Given the description of an element on the screen output the (x, y) to click on. 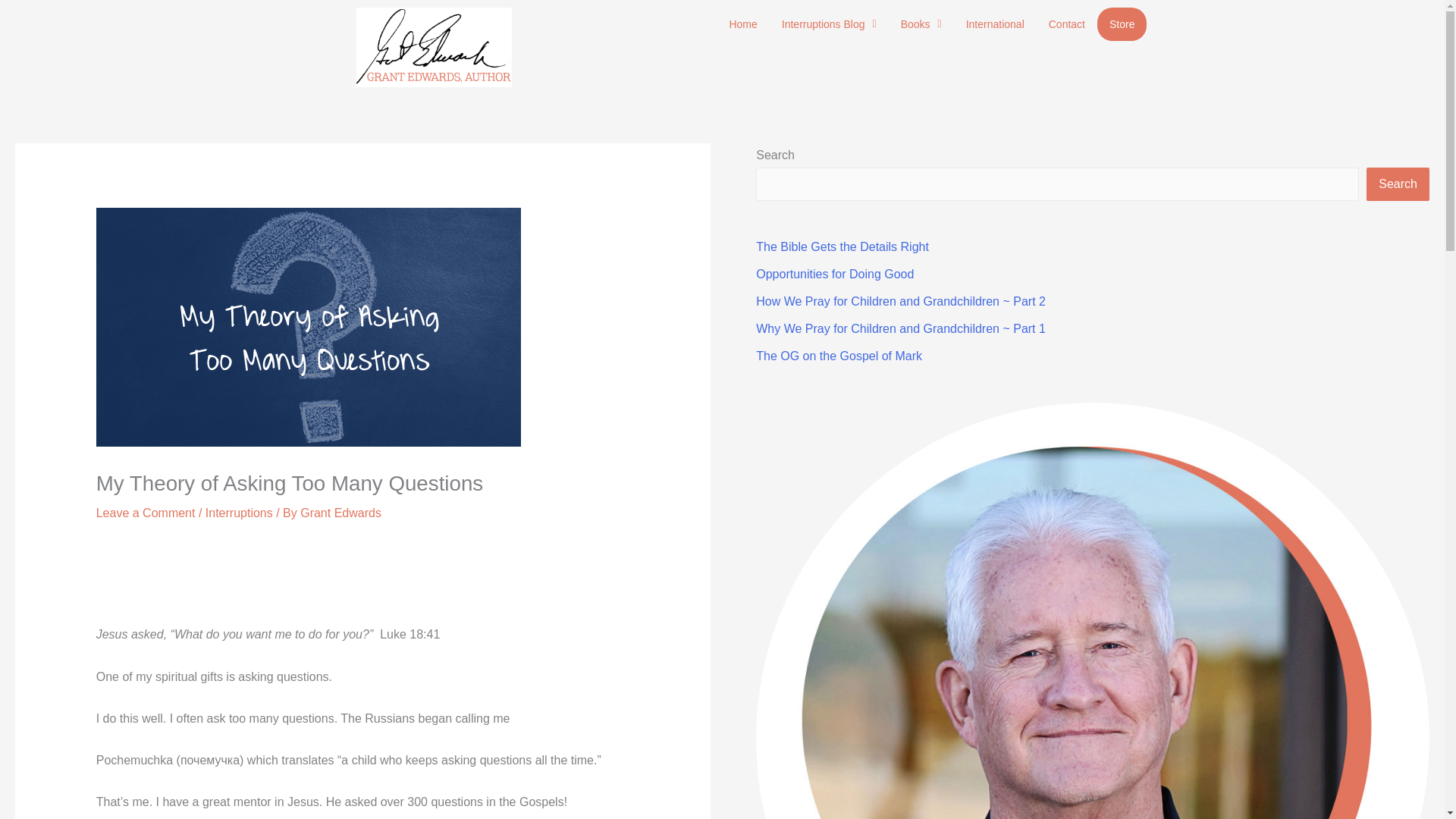
Leave a Comment (145, 512)
Opportunities for Doing Good (834, 273)
Contact (1066, 23)
Books (920, 23)
International (994, 23)
Search (1398, 183)
Store (1122, 23)
View all posts by Grant Edwards (340, 512)
The Bible Gets the Details Right (841, 246)
Interruptions Blog (829, 23)
